Given the description of an element on the screen output the (x, y) to click on. 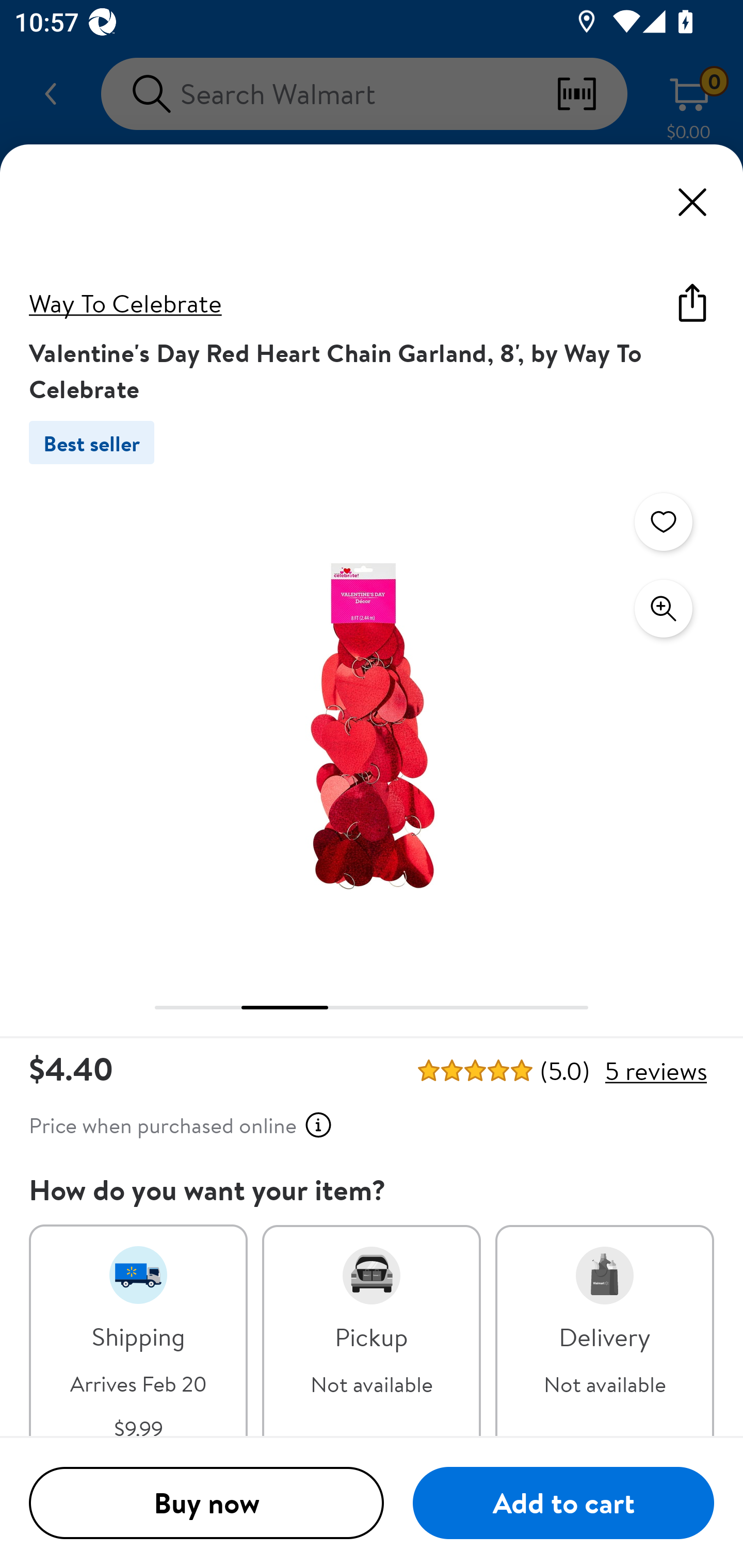
Close (692, 202)
Share item (692, 302)
Image 2 of 5 (371, 723)
Zoom button (663, 609)
5 reviews (655, 1070)
Price when purchased online (180, 1124)
Buy now (206, 1503)
Add to cart (563, 1503)
